Given the description of an element on the screen output the (x, y) to click on. 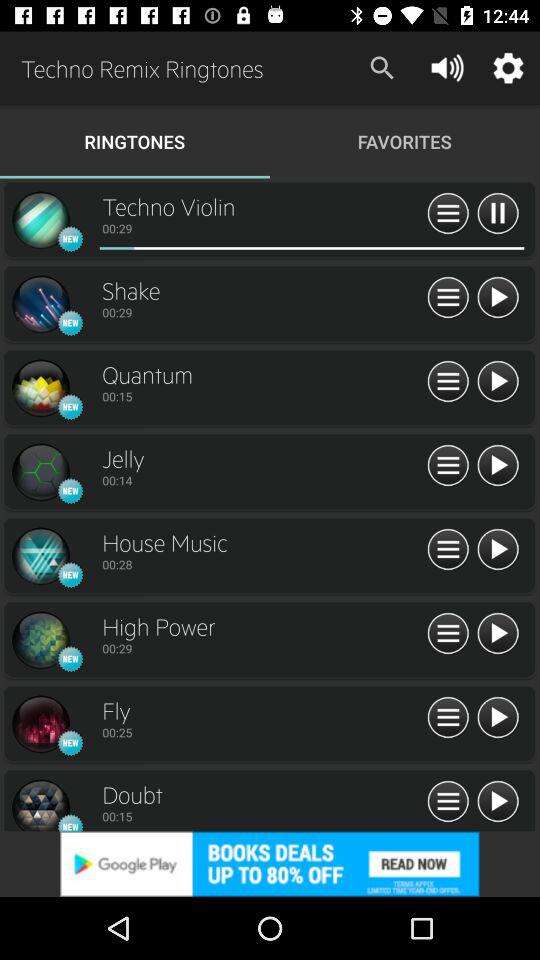
menu option (447, 801)
